Given the description of an element on the screen output the (x, y) to click on. 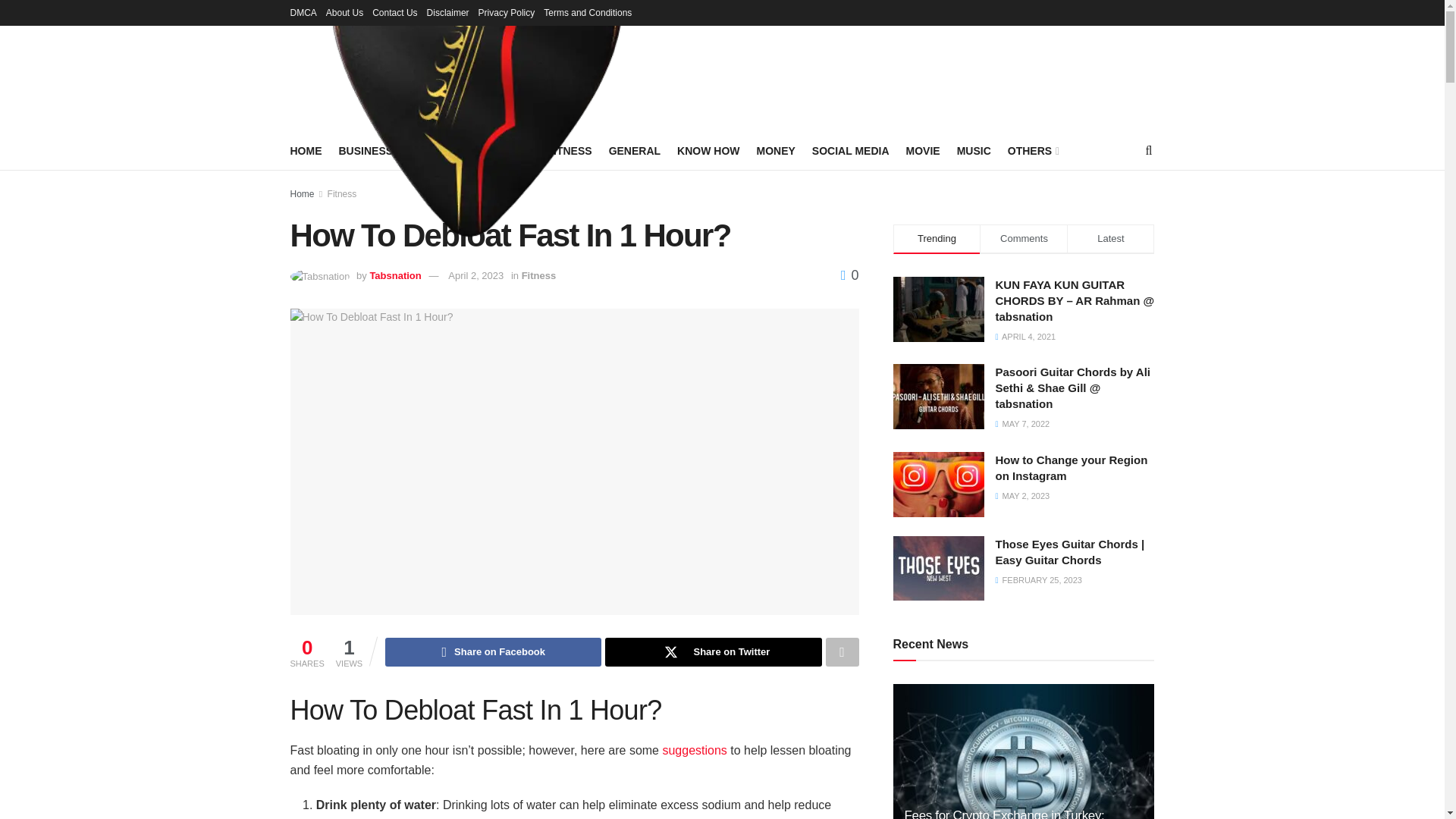
MUSIC (973, 150)
GENERAL (634, 150)
DMCA (302, 12)
OTHERS (1032, 150)
SOCIAL MEDIA (850, 150)
FITNESS (569, 150)
Contact Us (394, 12)
FASHION (433, 150)
HOME (305, 150)
KNOW HOW (708, 150)
BUSINESS (365, 150)
MOVIE (922, 150)
Privacy Policy (507, 12)
About Us (344, 12)
MONEY (775, 150)
